Given the description of an element on the screen output the (x, y) to click on. 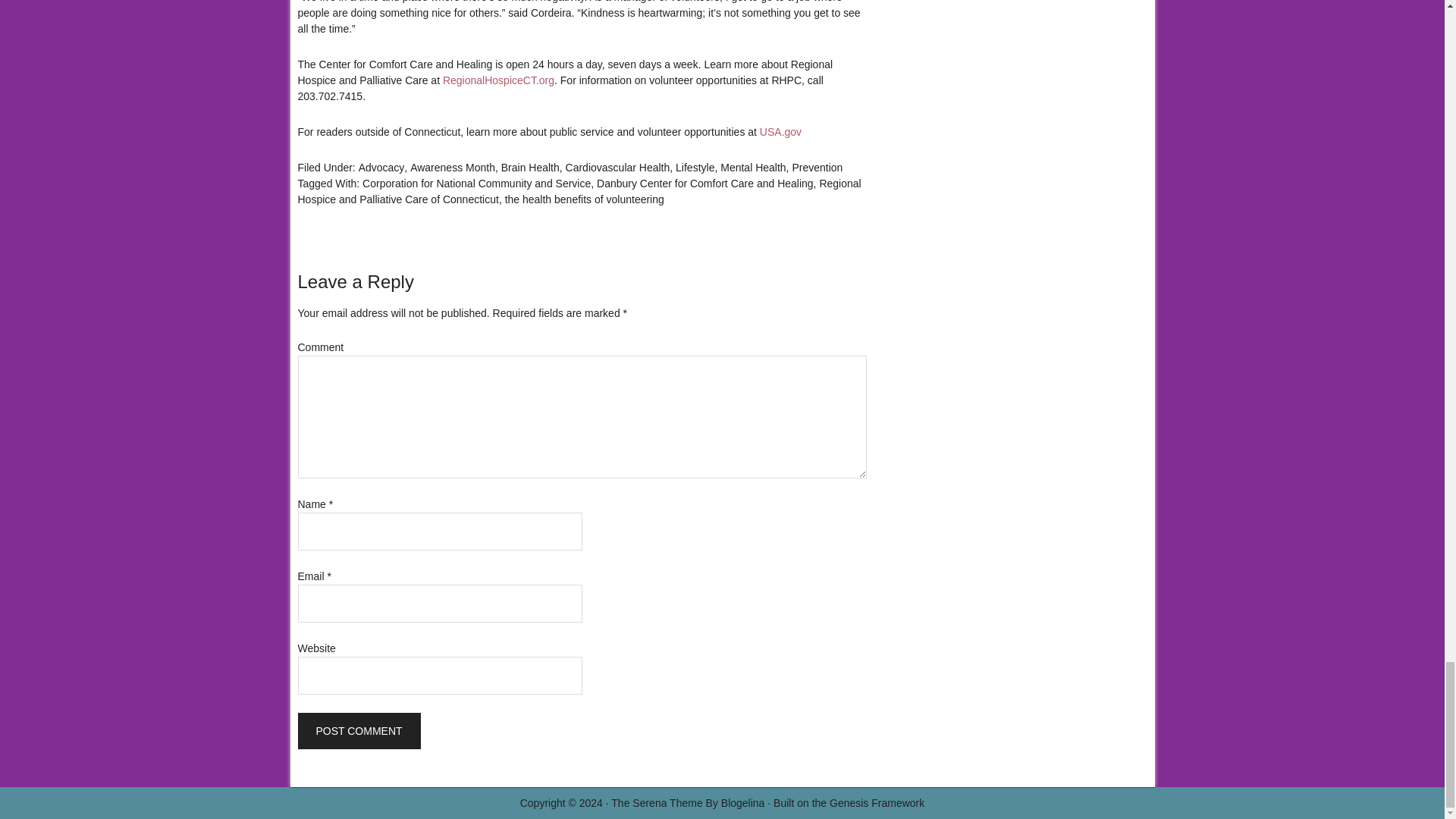
Advocacy (381, 167)
Mental Health (753, 167)
Post Comment (358, 730)
Brain Health (529, 167)
USA.gov (781, 132)
RegionalHospiceCT.org (498, 80)
Awareness Month (452, 167)
Regional Hospice and Palliative Care of Connecticut (578, 191)
Post Comment (358, 730)
Danbury Center for Comfort Care and Healing (704, 183)
Lifestyle (694, 167)
Cardiovascular Health (617, 167)
Genesis Framework (876, 802)
Prevention (817, 167)
Corporation for National Community and Service (476, 183)
